Given the description of an element on the screen output the (x, y) to click on. 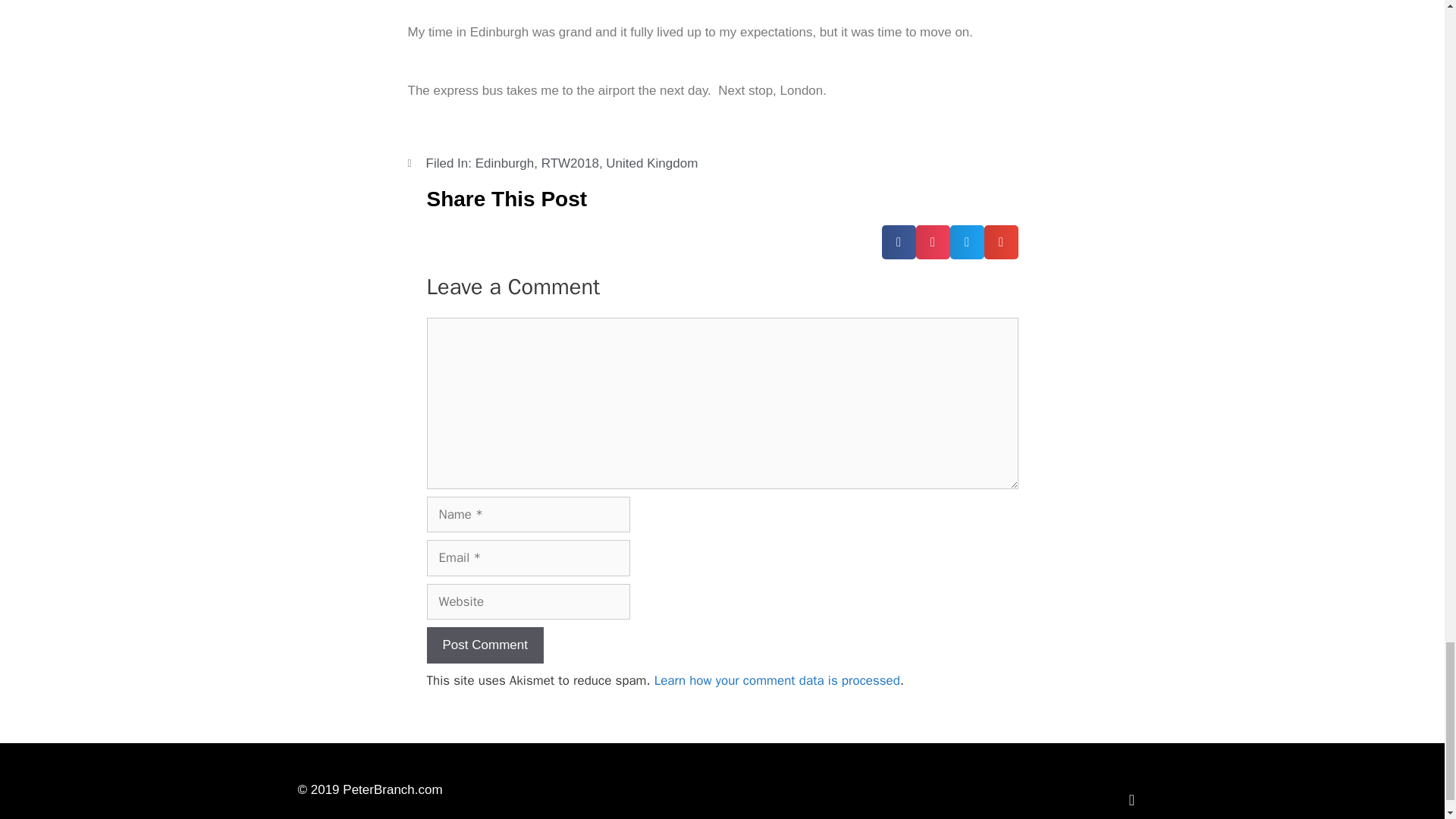
RTW2018 (569, 163)
Edinburgh (505, 163)
United Kingdom (651, 163)
Post Comment (484, 645)
Post Comment (484, 645)
Learn how your comment data is processed (776, 680)
